Given the description of an element on the screen output the (x, y) to click on. 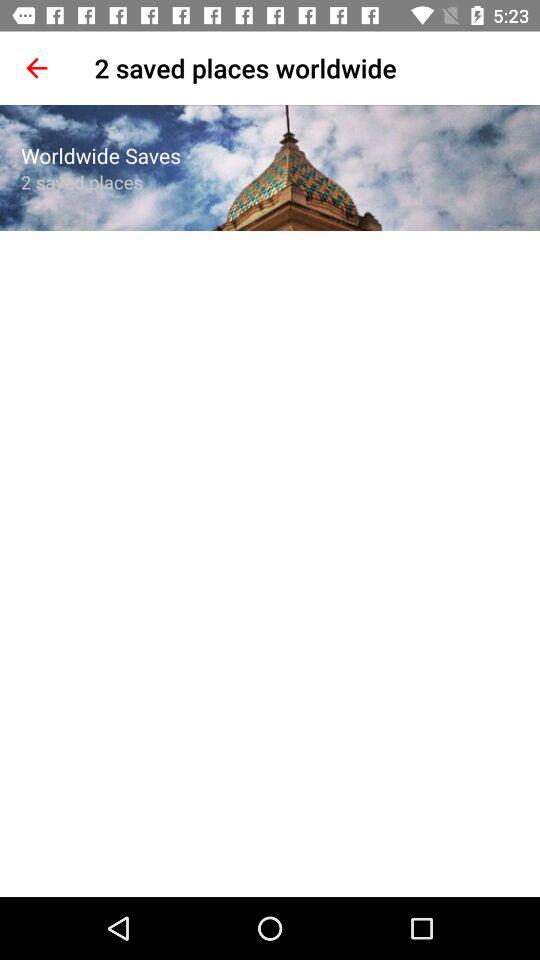
launch icon next to the 2 saved places item (36, 68)
